Given the description of an element on the screen output the (x, y) to click on. 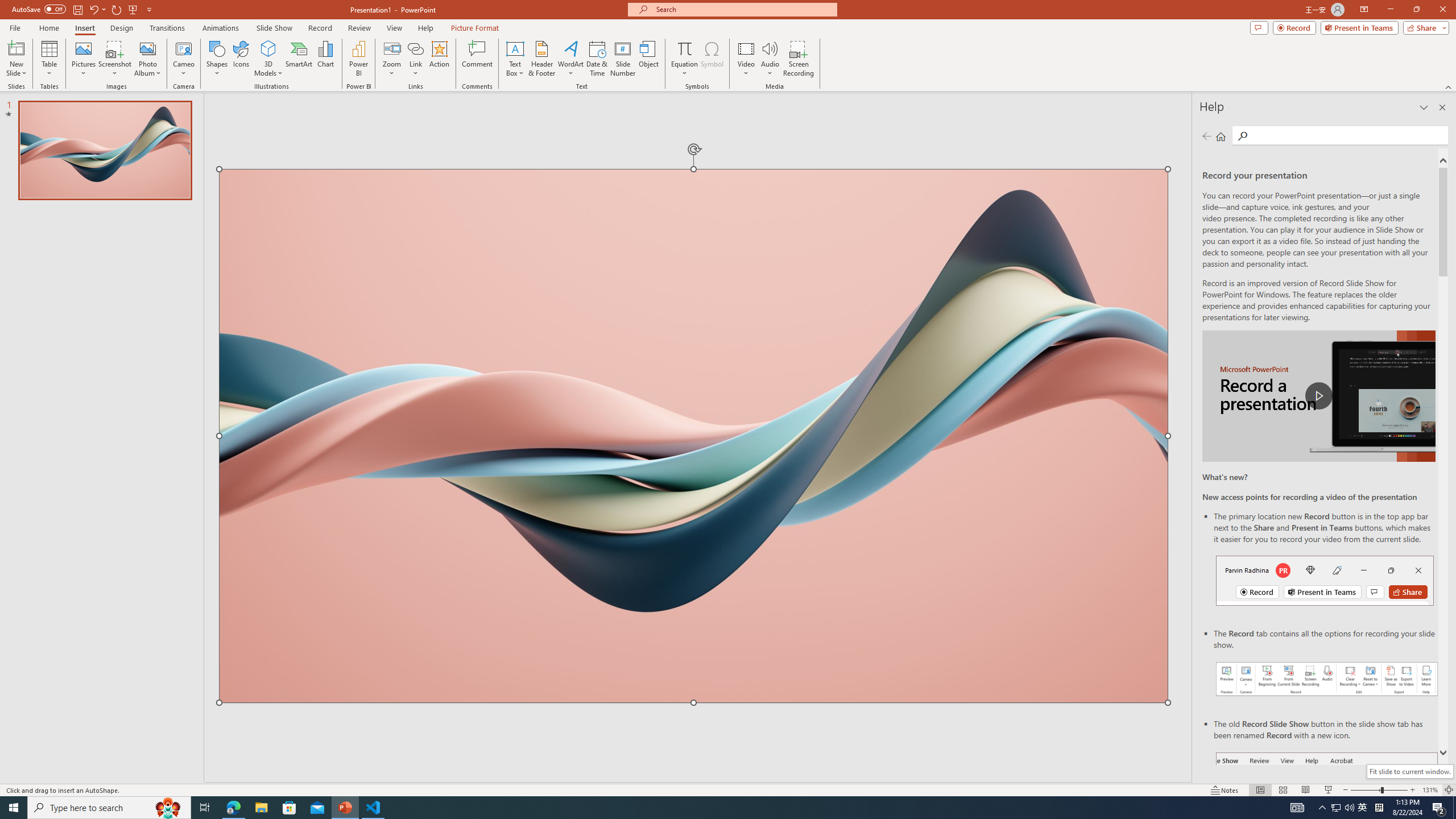
WordArt (570, 58)
Table (49, 58)
Video (745, 58)
Chart... (325, 58)
Fit slide to current window. (1410, 771)
Symbol... (711, 58)
